Given the description of an element on the screen output the (x, y) to click on. 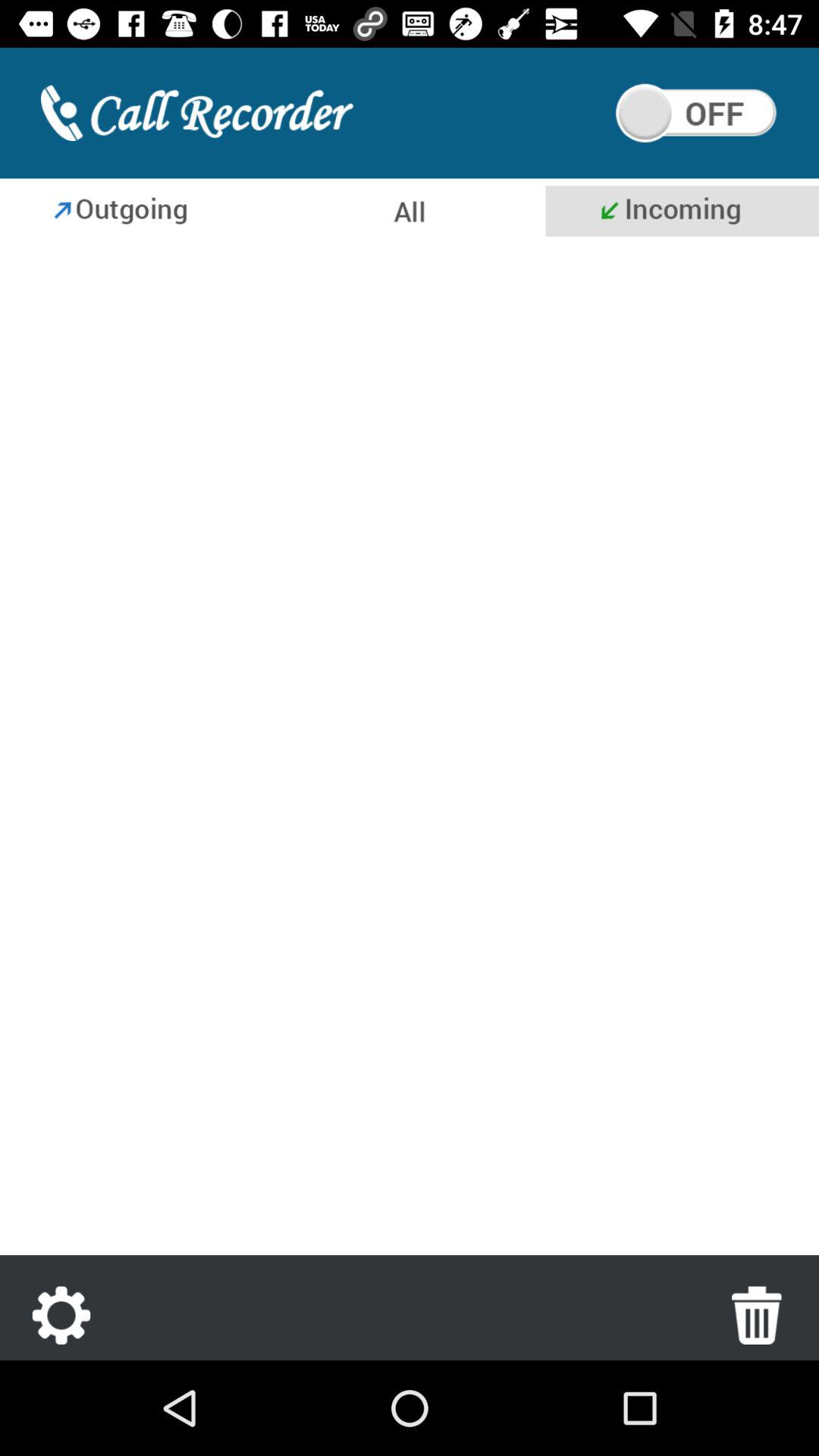
all calls (408, 210)
